Given the description of an element on the screen output the (x, y) to click on. 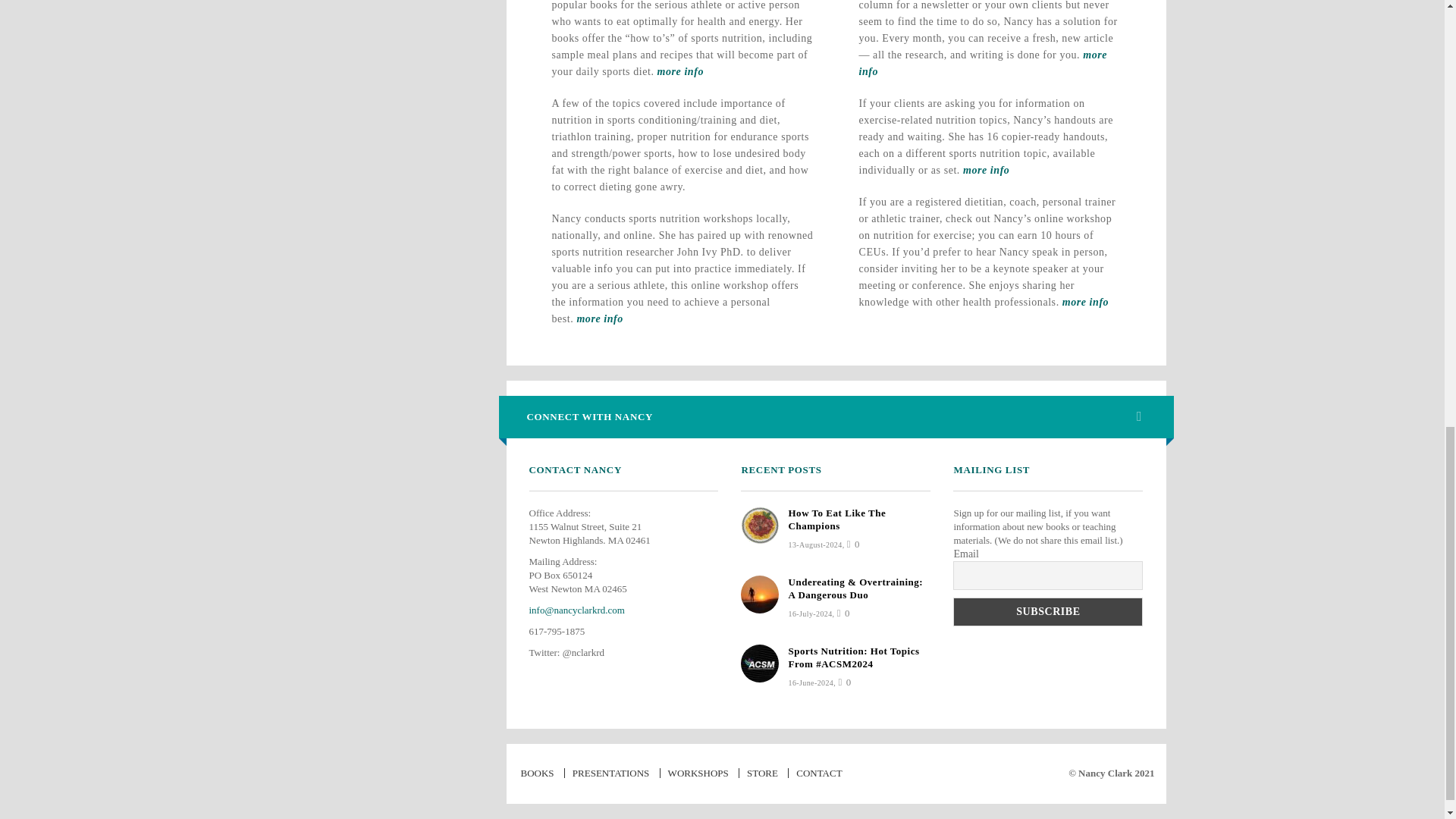
more info (1085, 301)
more info (680, 71)
How To Eat Like The Champions (836, 518)
more info (985, 170)
more info (982, 62)
more info (599, 318)
Subscribe (1047, 611)
